Given the description of an element on the screen output the (x, y) to click on. 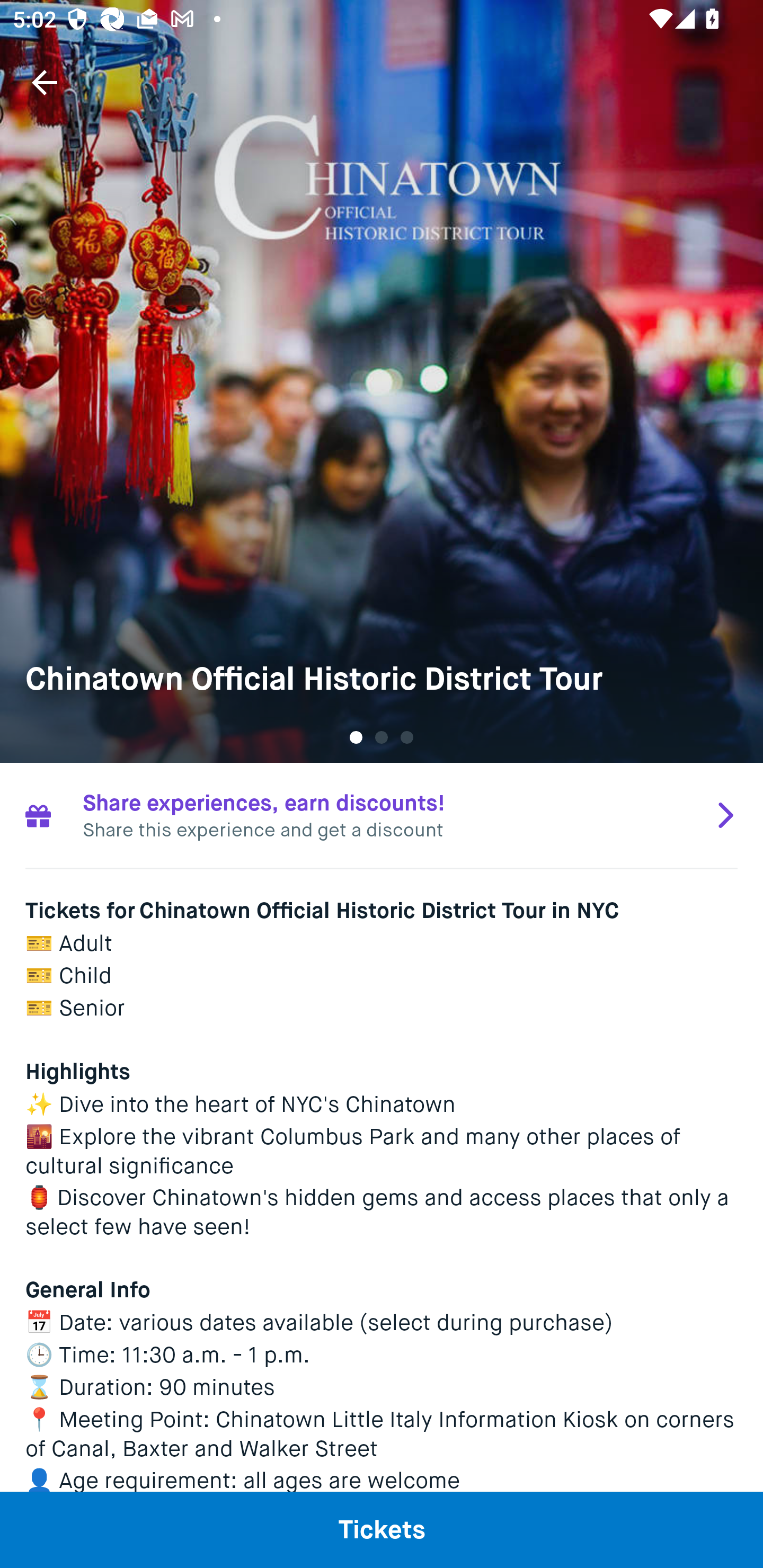
Navigate up (44, 82)
Tickets (381, 1529)
